Given the description of an element on the screen output the (x, y) to click on. 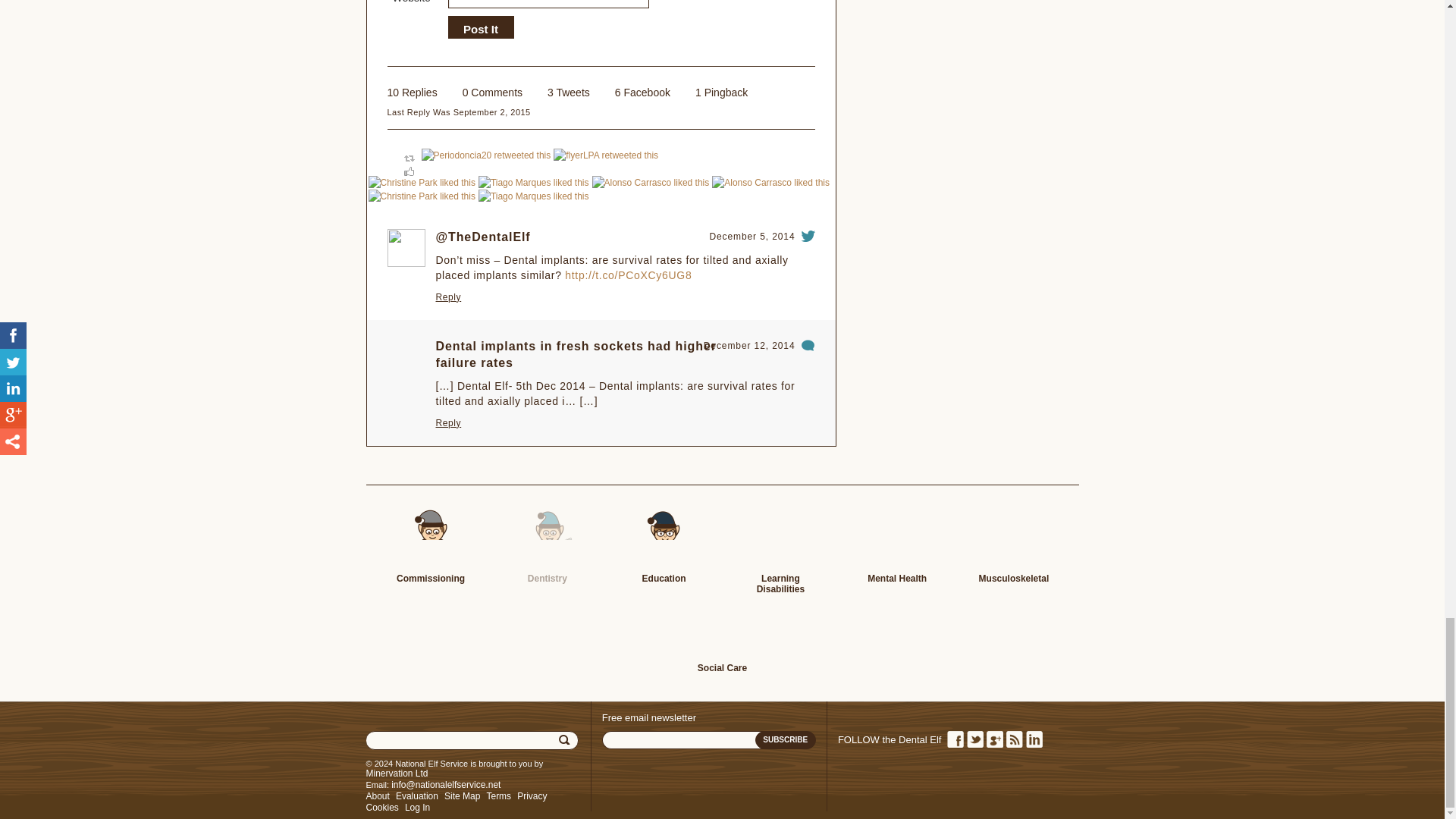
Subscribe (785, 740)
Search (565, 740)
Post It (479, 29)
